Given the description of an element on the screen output the (x, y) to click on. 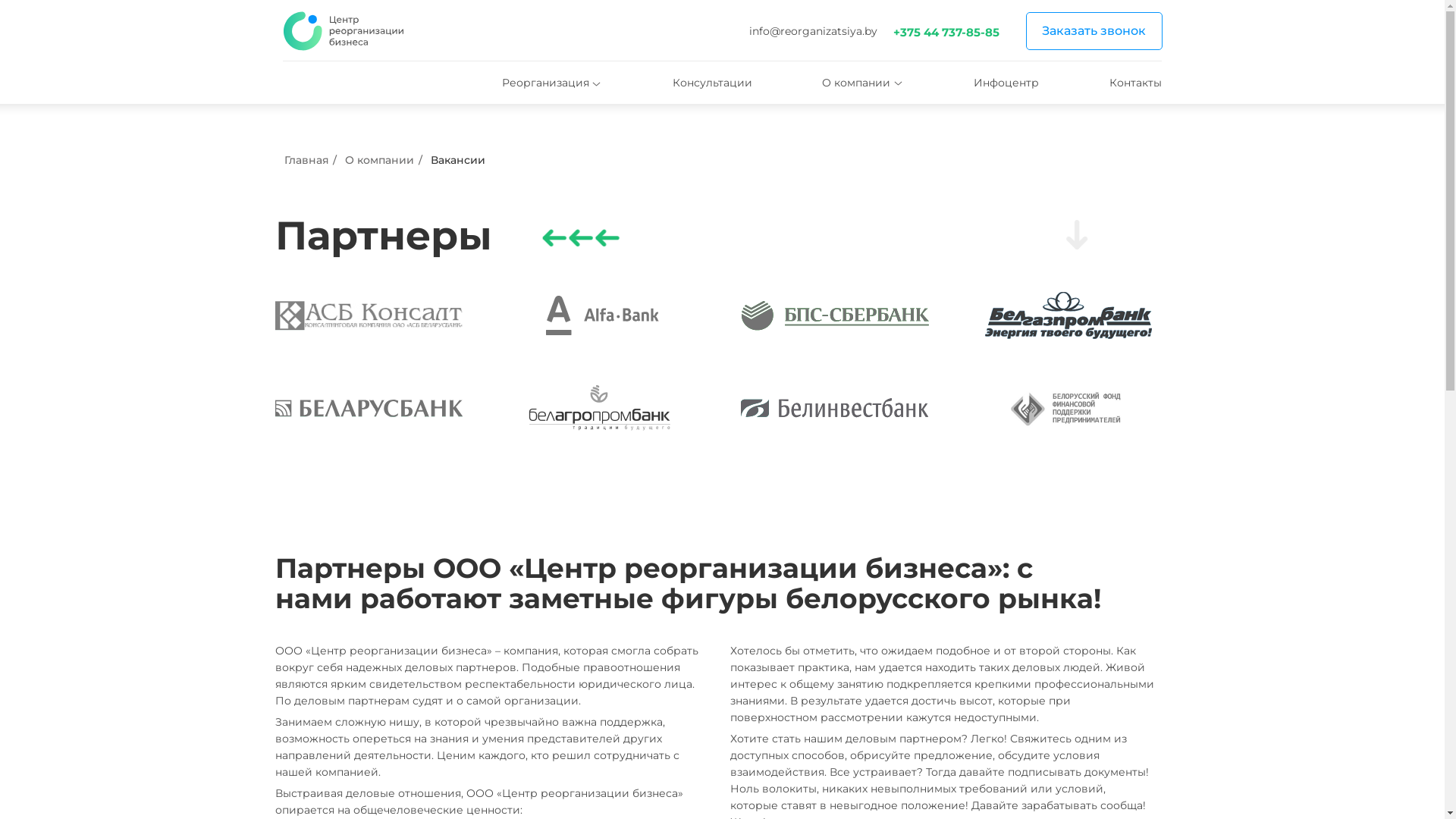
+375 44 737-85-85 Element type: text (946, 31)
info@reorganizatsiya.by Element type: text (813, 30)
